Given the description of an element on the screen output the (x, y) to click on. 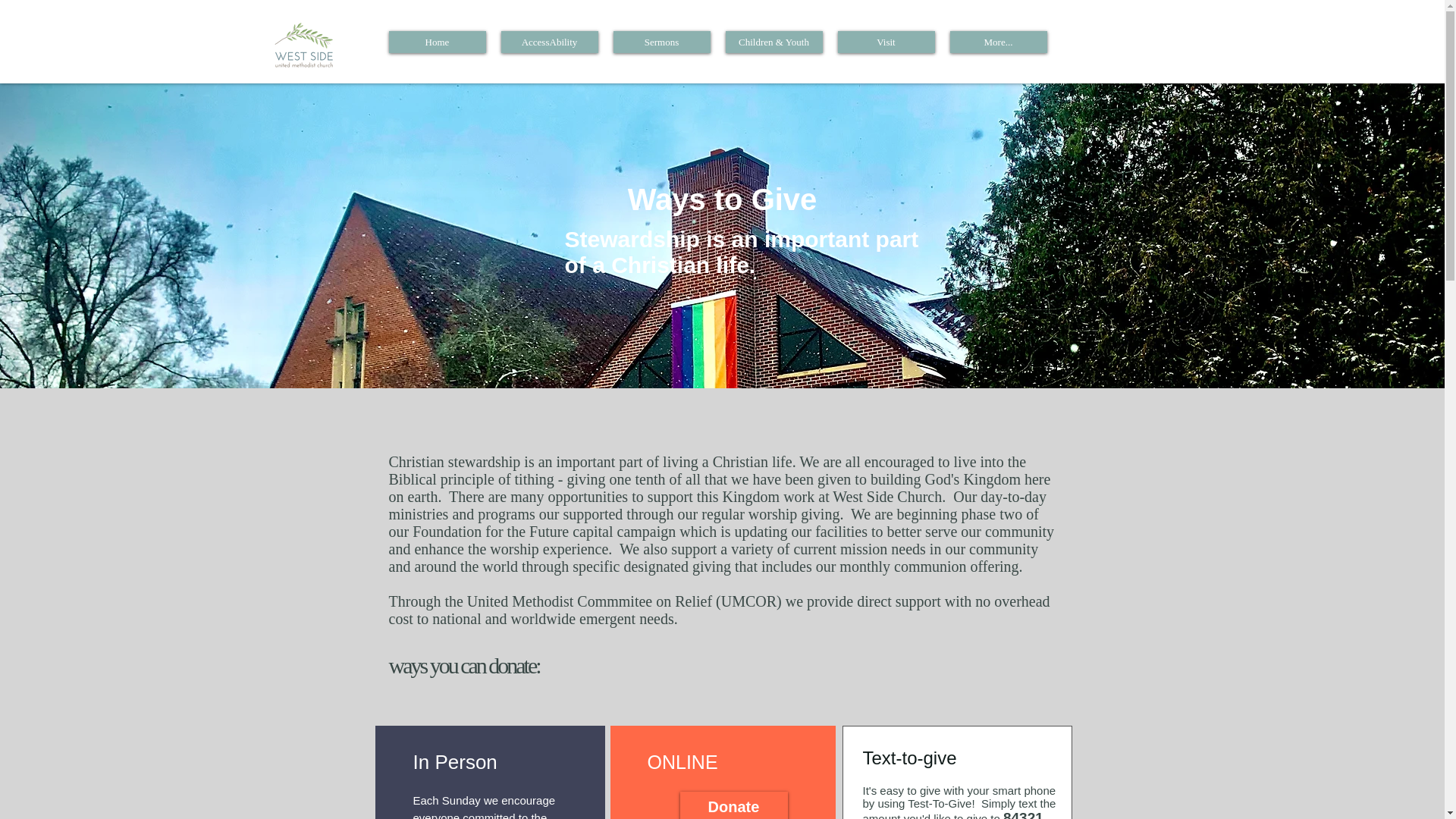
Donate (733, 805)
AccessAbility (548, 42)
Home (436, 42)
